Given the description of an element on the screen output the (x, y) to click on. 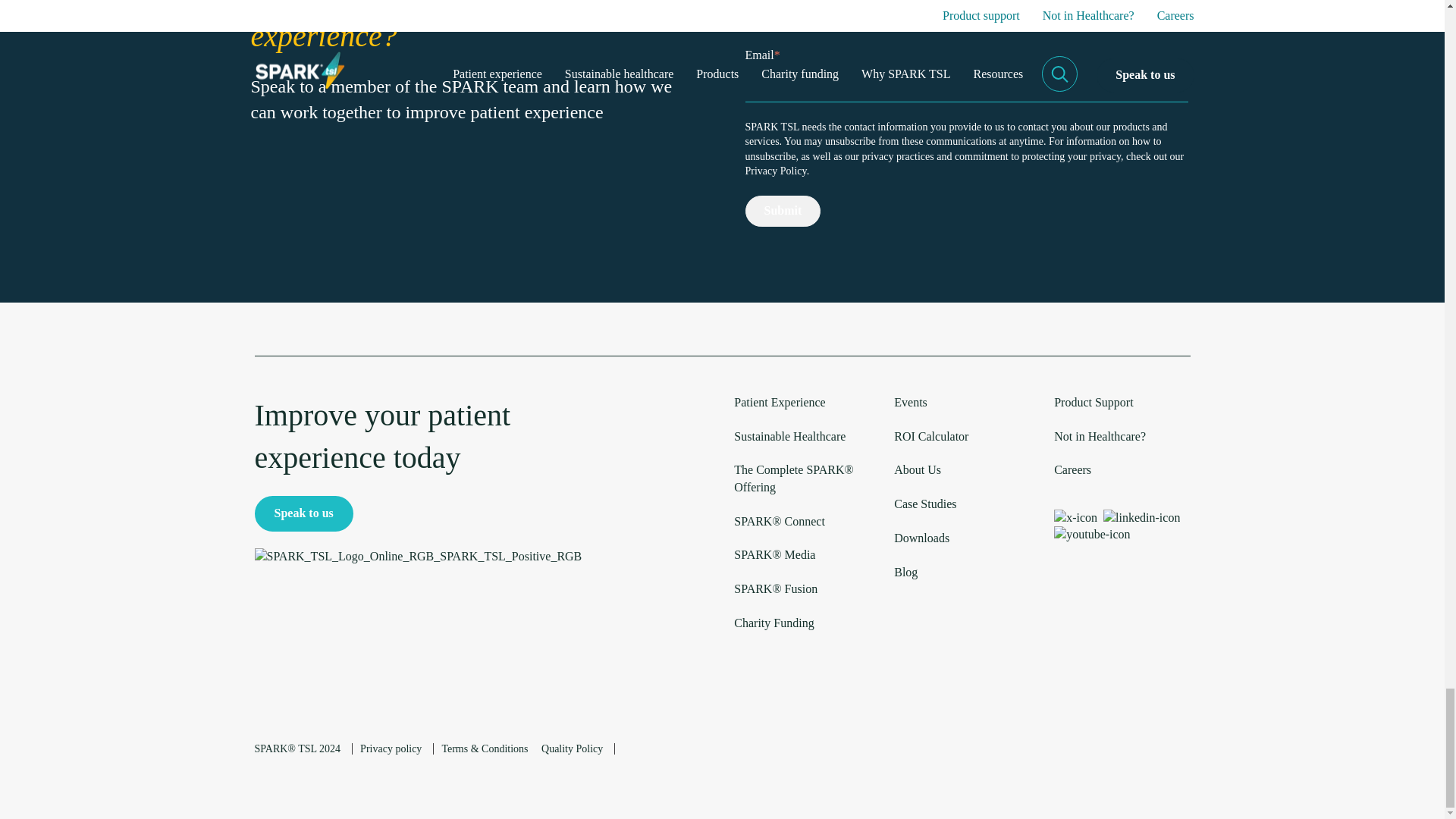
Speak to us (303, 513)
Submit (782, 210)
